Given the description of an element on the screen output the (x, y) to click on. 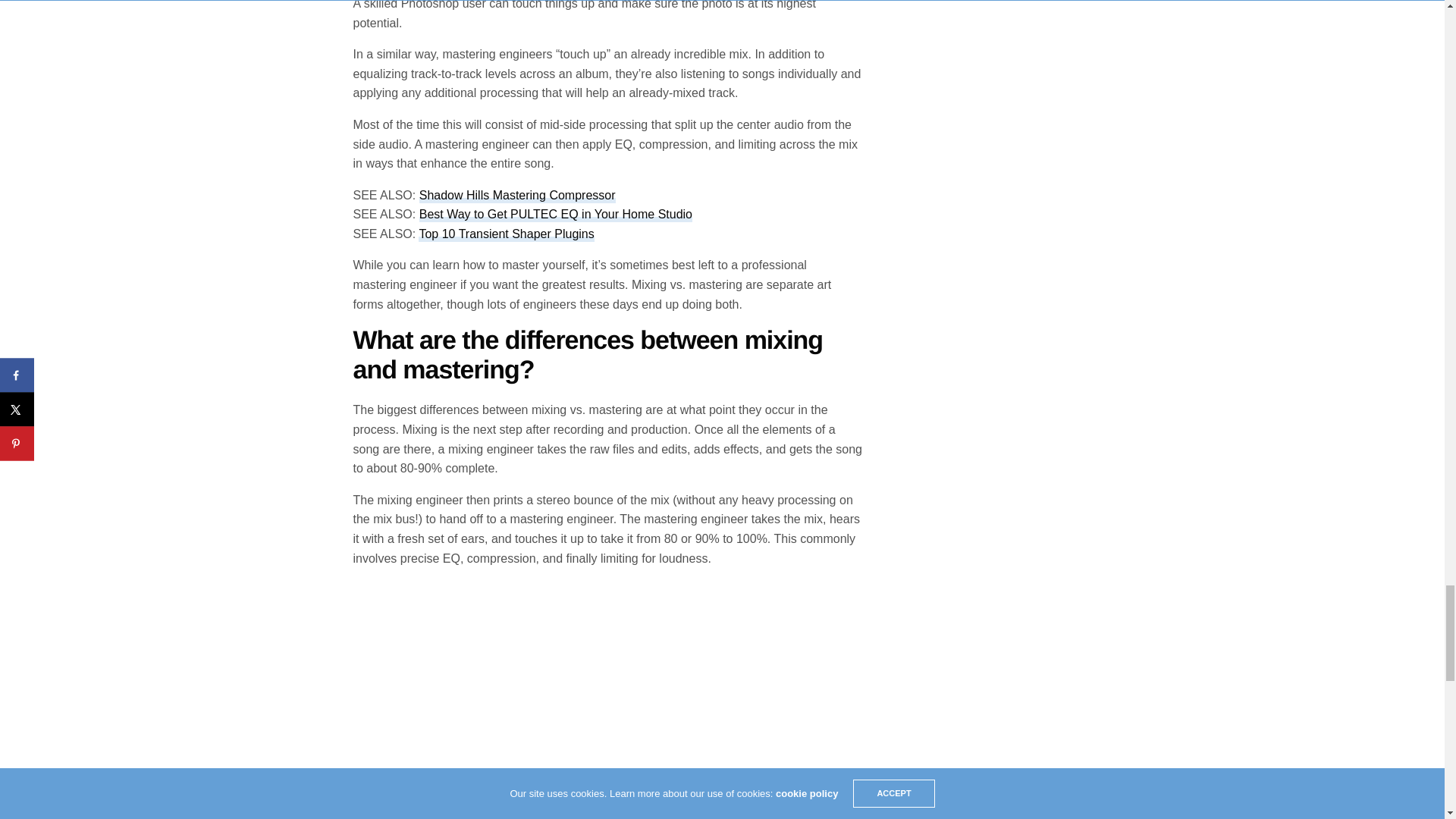
Shadow Hills Mastering Compressor (517, 196)
Top 10 Transient Shaper Plugins (506, 234)
Best Way to Get PULTEC EQ in Your Home Studio (556, 214)
